Given the description of an element on the screen output the (x, y) to click on. 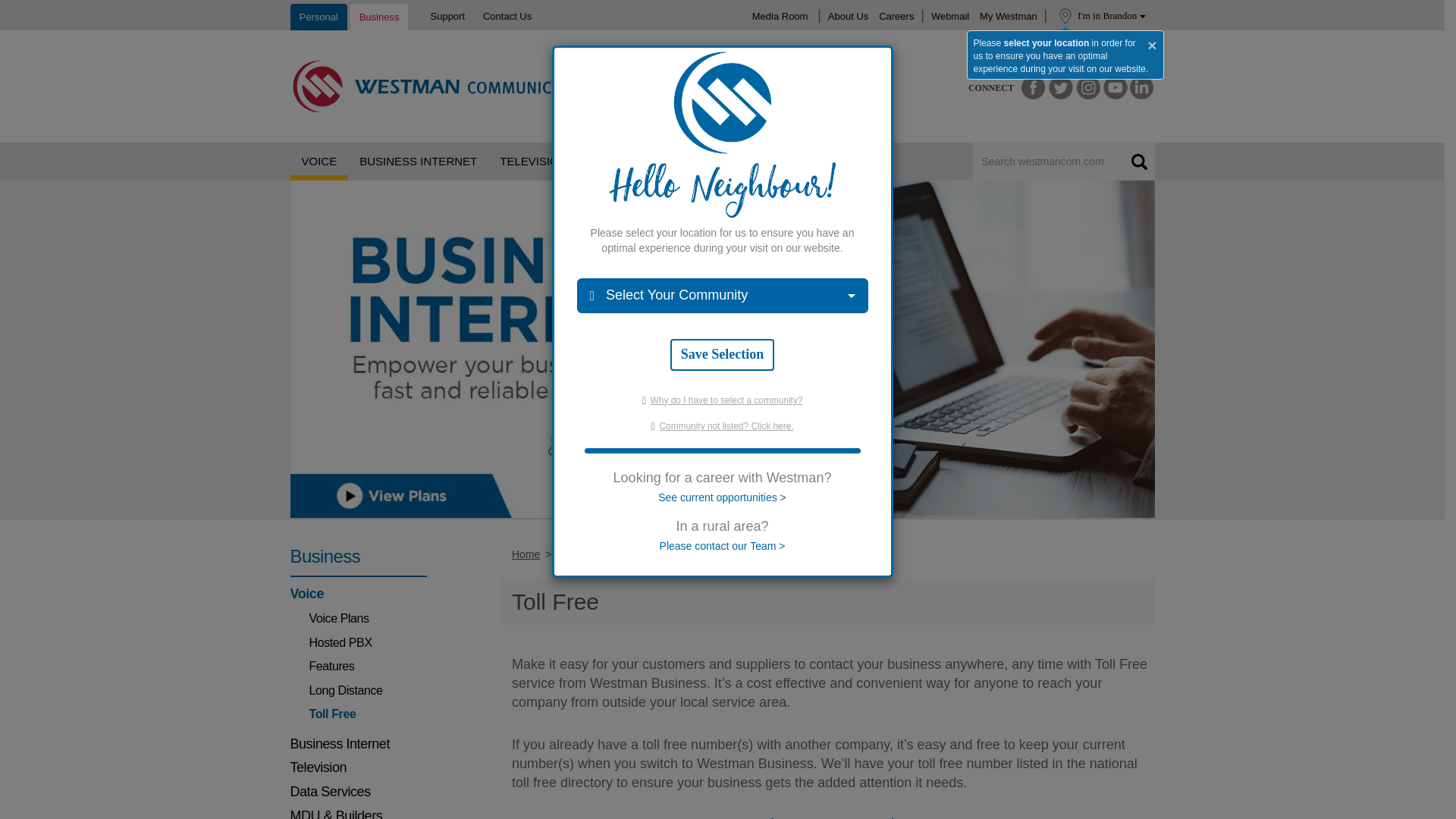
About Us (848, 15)
Business (378, 17)
I'm in Brandon (1115, 16)
My Westman (1008, 15)
Contact Us (507, 15)
Media Room (780, 15)
Careers (896, 15)
Personal (317, 17)
Support (447, 15)
